Given the description of an element on the screen output the (x, y) to click on. 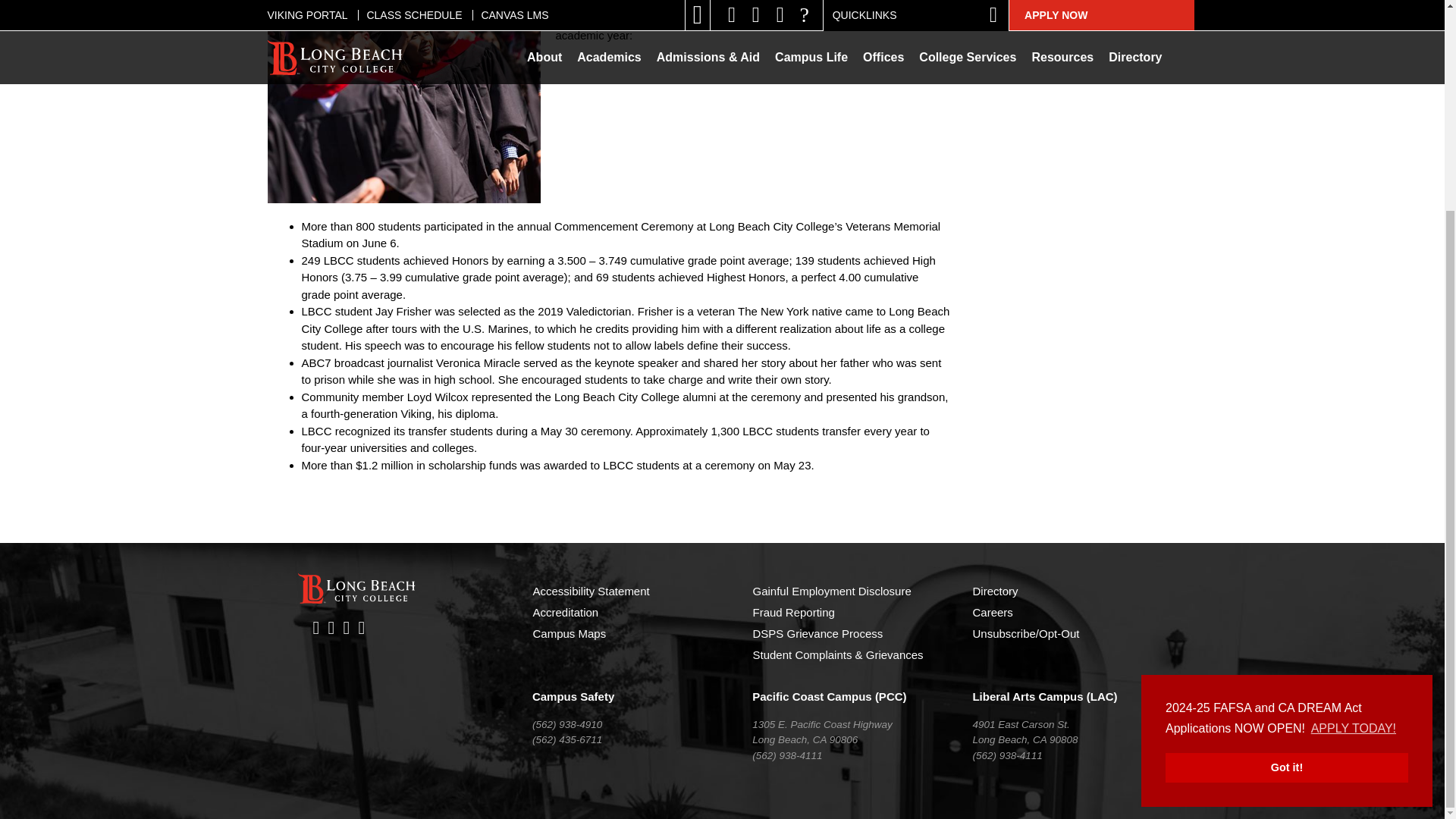
APPLY TODAY! (1353, 454)
Got it! (1286, 493)
